Given the description of an element on the screen output the (x, y) to click on. 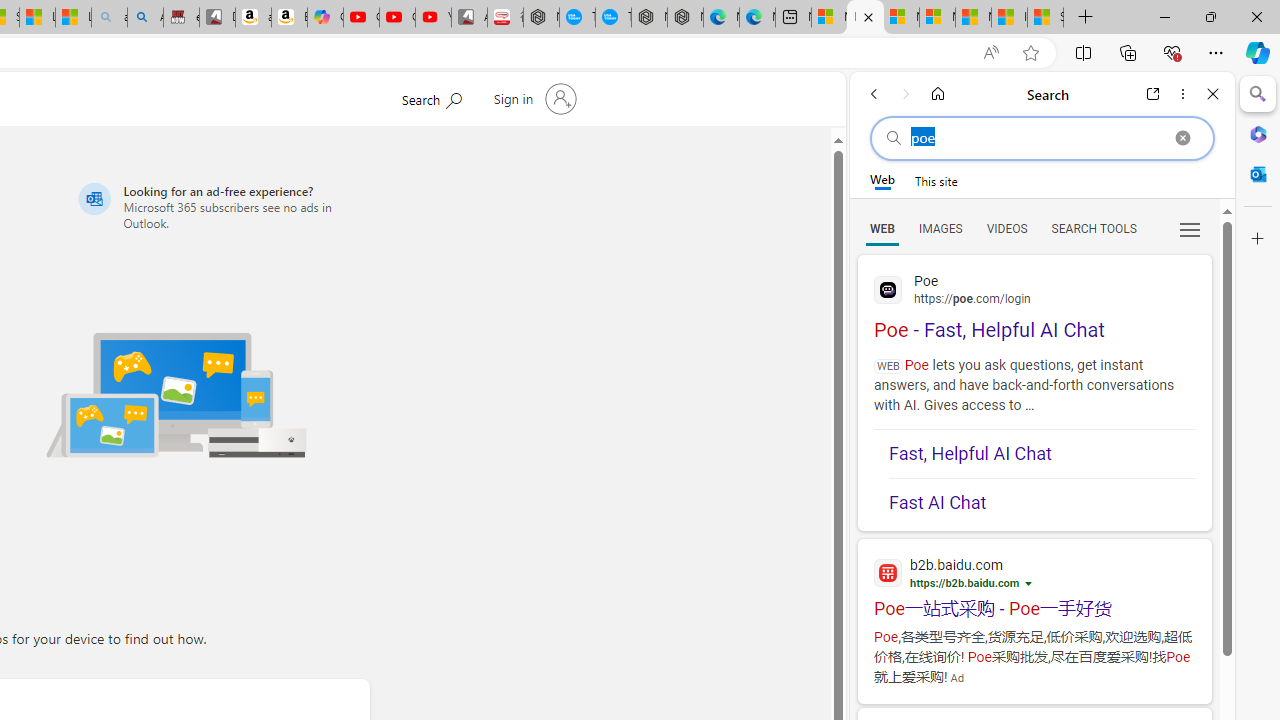
I Gained 20 Pounds of Muscle in 30 Days! | Watch (1009, 17)
Search Microsoft.com (431, 97)
amazon.in/dp/B0CX59H5W7/?tag=gsmcom05-21 (253, 17)
Search Filter, IMAGES (939, 228)
Learn how your ads are chosen (1029, 585)
Search (1258, 94)
Home (938, 93)
Open link in new tab (1153, 93)
